Given the description of an element on the screen output the (x, y) to click on. 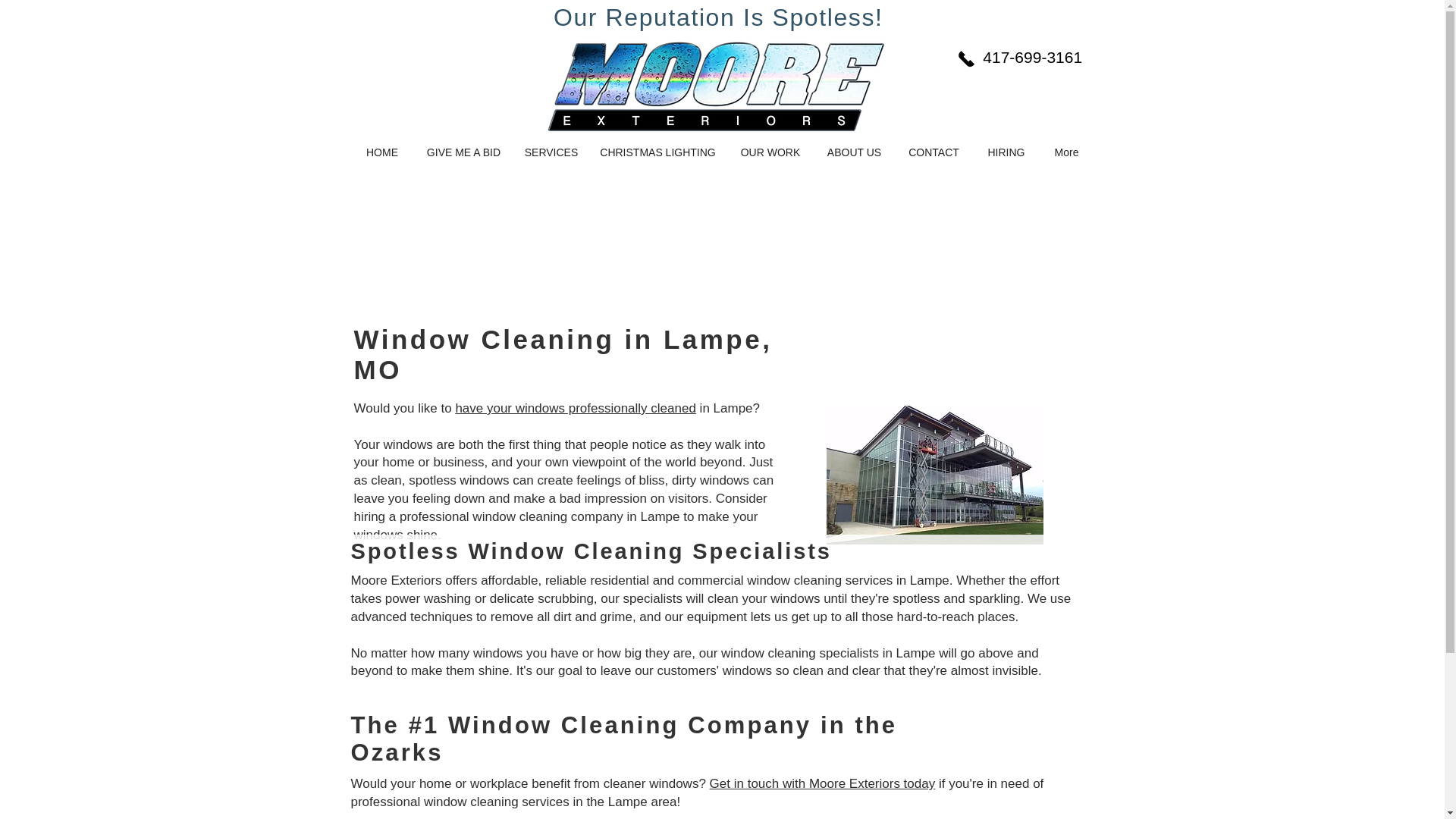
OUR WORK (769, 152)
HOME (381, 152)
HIRING (1006, 152)
have your windows professionally cleaned (574, 408)
Get in touch with Moore Exteriors today (823, 783)
SERVICES (551, 152)
CHRISTMAS LIGHTING (657, 152)
ABOUT US (854, 152)
CONTACT (934, 152)
GIVE ME A BID (463, 152)
Powerwashing in Ozarks (715, 85)
